Given the description of an element on the screen output the (x, y) to click on. 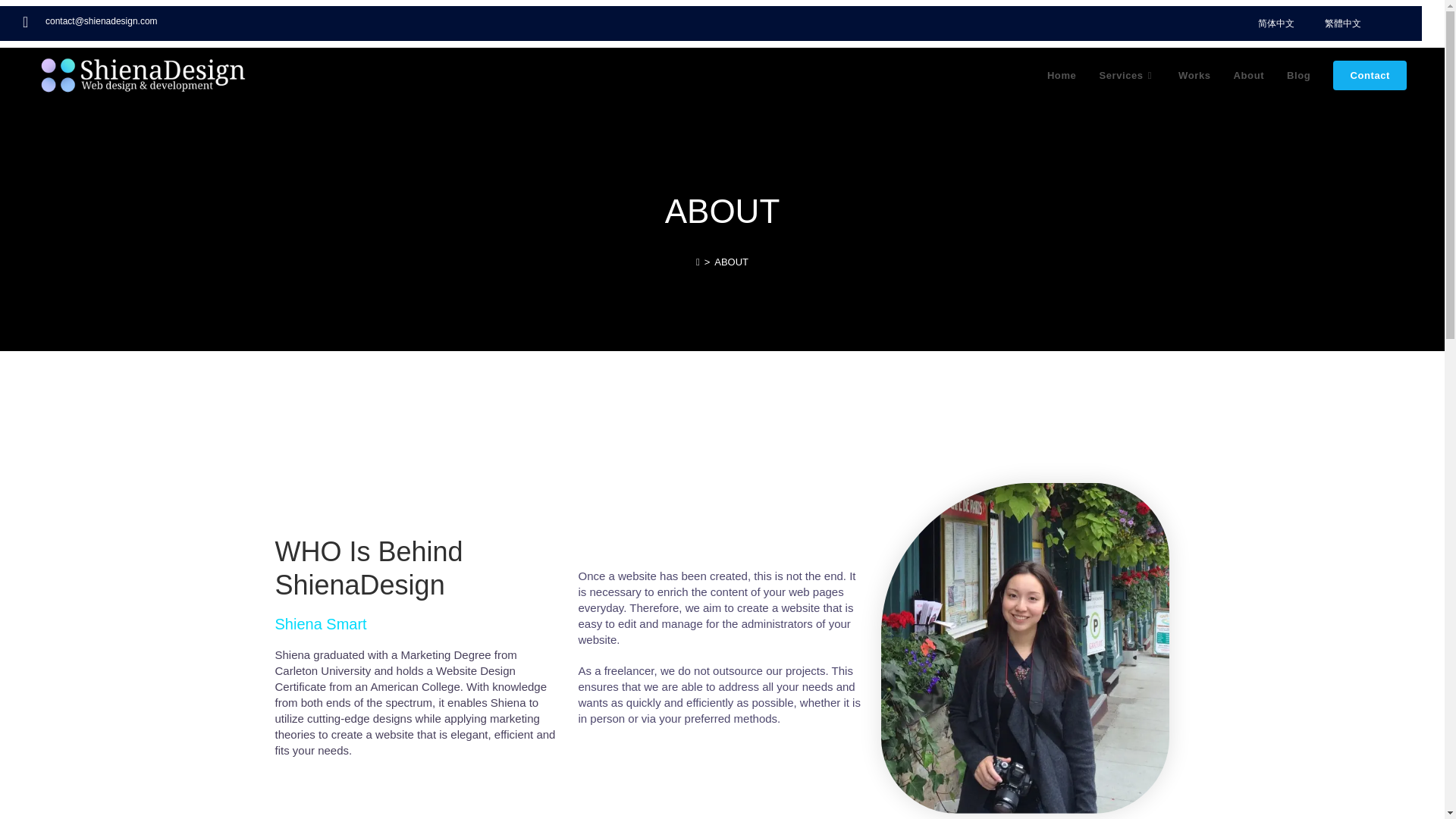
Contact (1370, 75)
About (1249, 75)
Works (1195, 75)
ABOUT (731, 261)
Home (1061, 75)
Services (1127, 75)
